Given the description of an element on the screen output the (x, y) to click on. 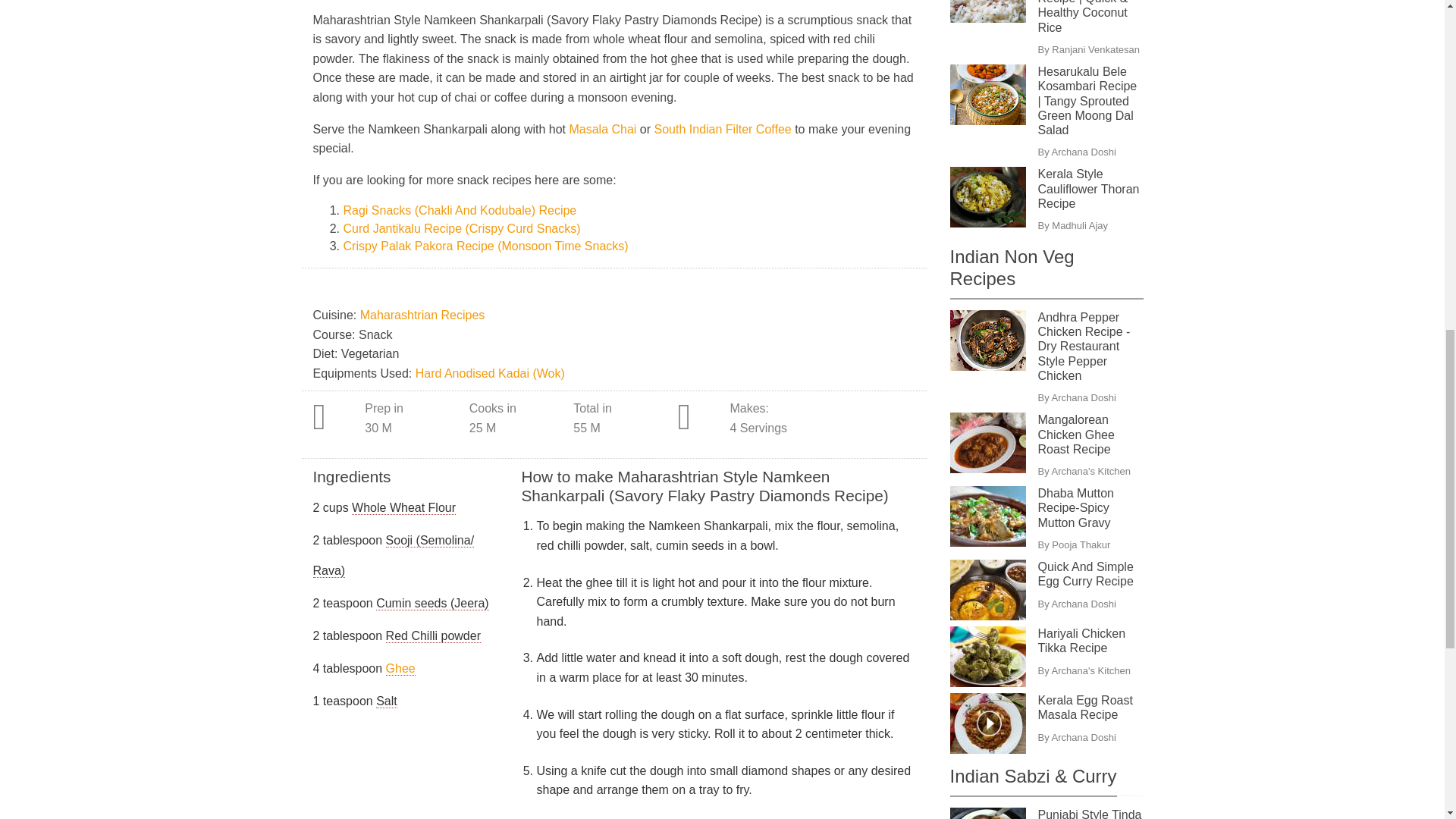
Ghee (399, 668)
Masala Chai Recipe - Indian Spiced Tea (604, 128)
Maharashtrian Recipes (421, 314)
Masala Chai (604, 128)
South Indian Filter Coffee (723, 128)
South Indian Filter Coffee (723, 128)
